Given the description of an element on the screen output the (x, y) to click on. 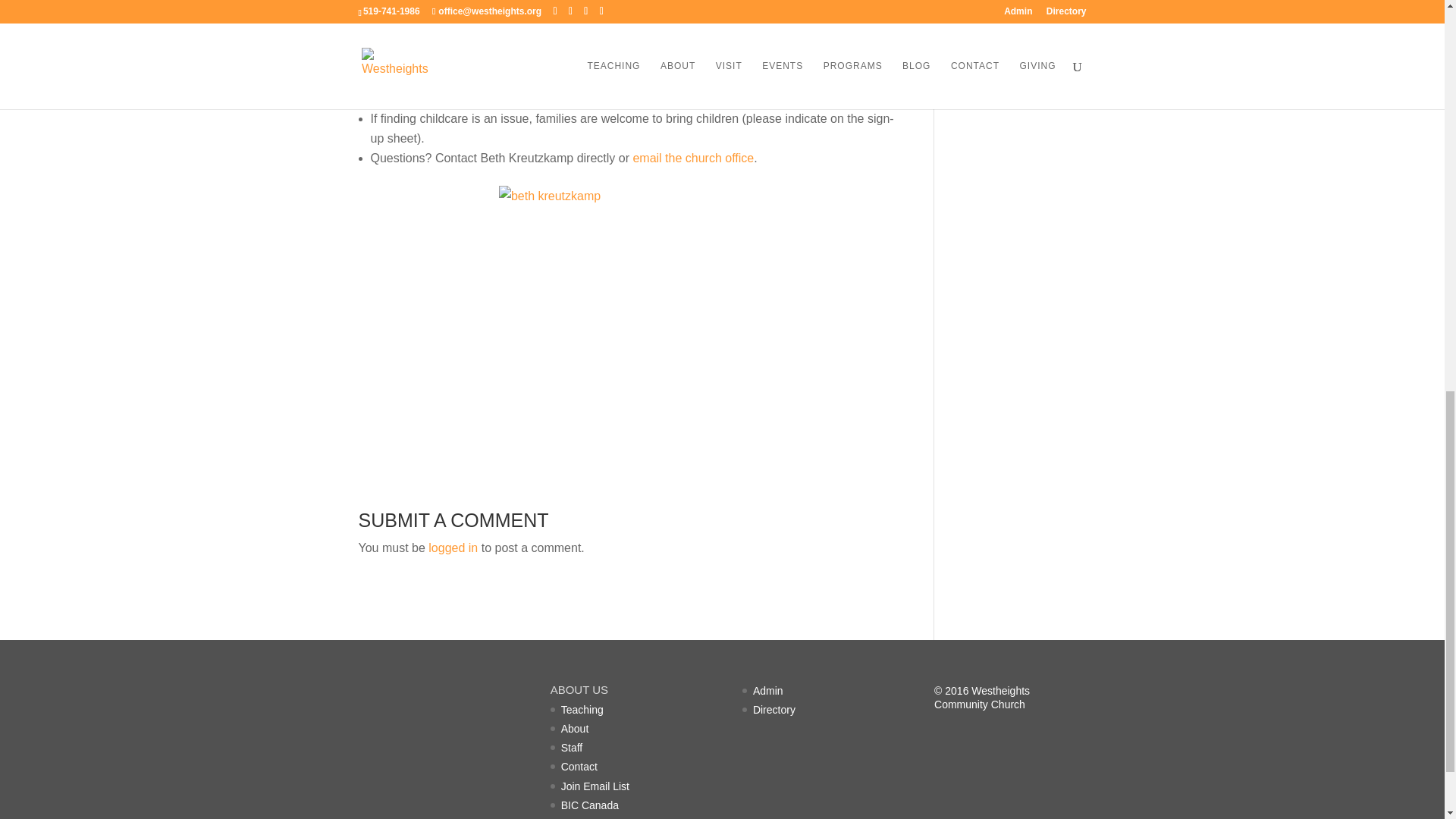
Teaching (582, 709)
Planning Center (999, 6)
Church Calendar (1002, 31)
logged in (452, 547)
Bible Gateway (995, 84)
YouVersion Bible (1002, 58)
email the church office (692, 157)
